Given the description of an element on the screen output the (x, y) to click on. 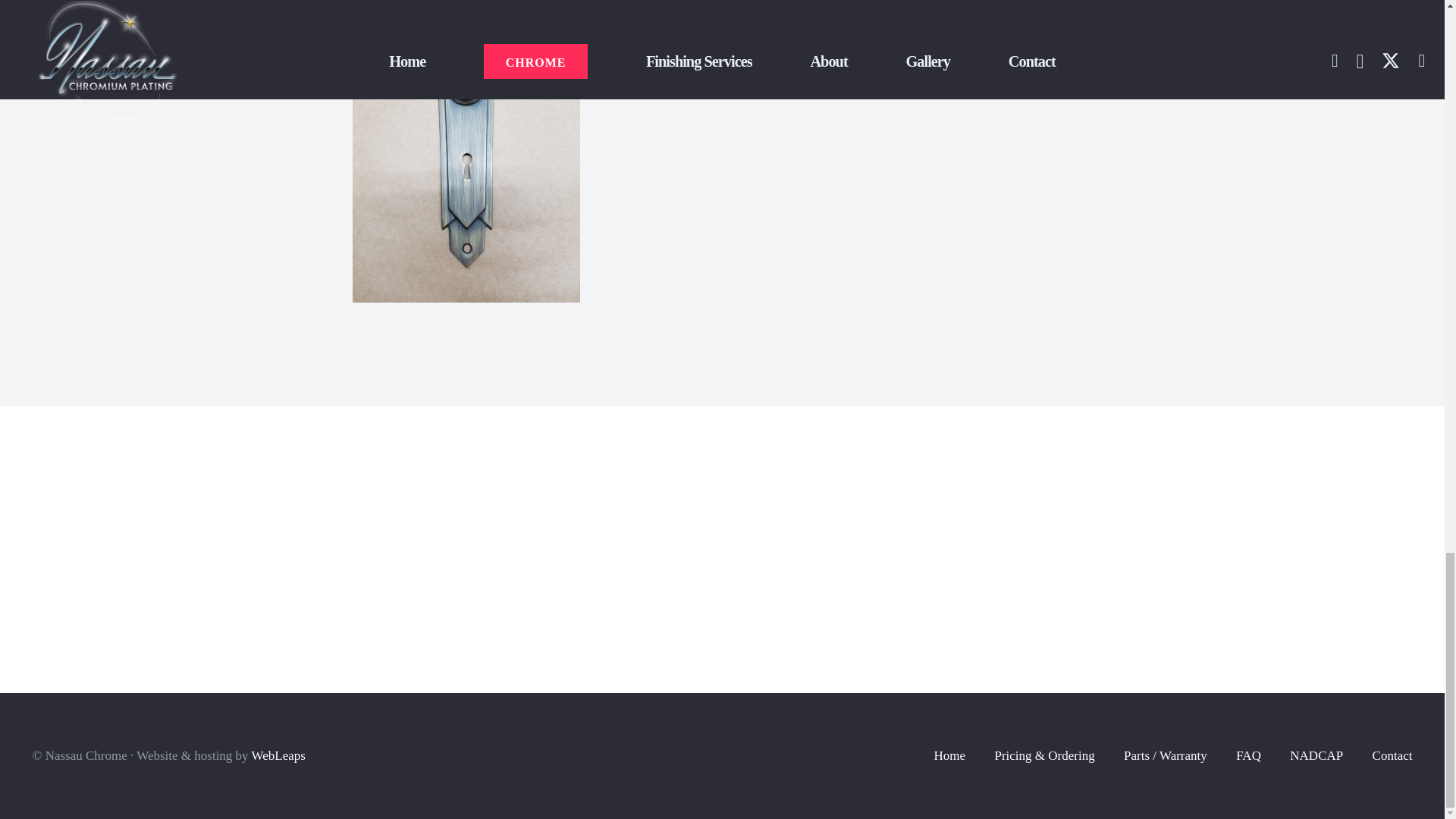
Contact (1392, 755)
NADCAP (1316, 755)
FAQ (1248, 755)
WebLeaps (278, 755)
Home (950, 755)
